Given the description of an element on the screen output the (x, y) to click on. 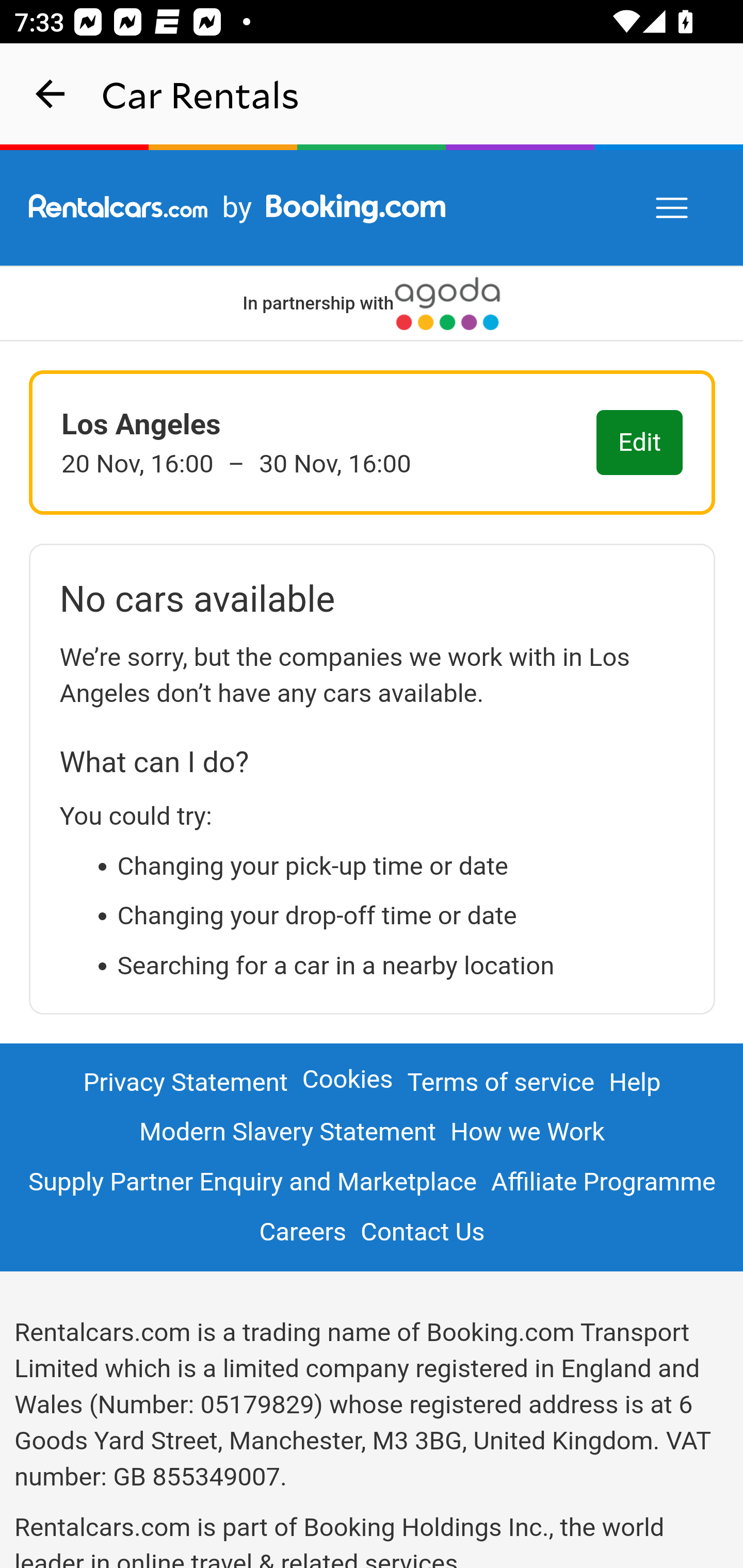
navigation_button (50, 93)
Menu (672, 208)
Edit (639, 443)
Cookies (347, 1079)
Privacy Statement (186, 1082)
Terms of service (500, 1082)
Help (635, 1082)
Modern Slavery Statement (286, 1131)
How we Work (528, 1131)
Supply Partner Enquiry and Marketplace (251, 1181)
Affiliate Programme (602, 1181)
Careers (302, 1231)
Contact Us (421, 1231)
